Given the description of an element on the screen output the (x, y) to click on. 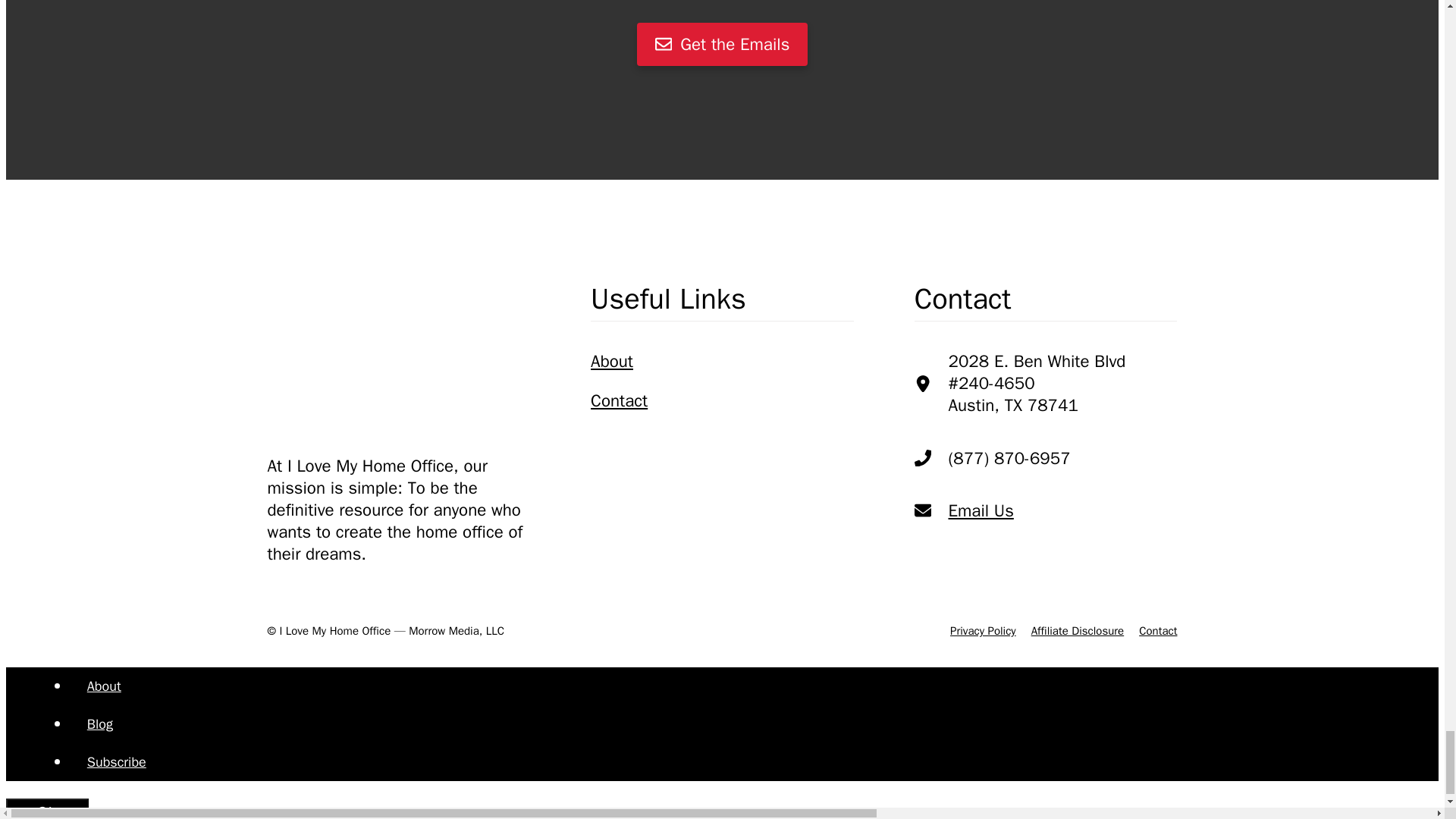
Get the Emails (722, 44)
